Given the description of an element on the screen output the (x, y) to click on. 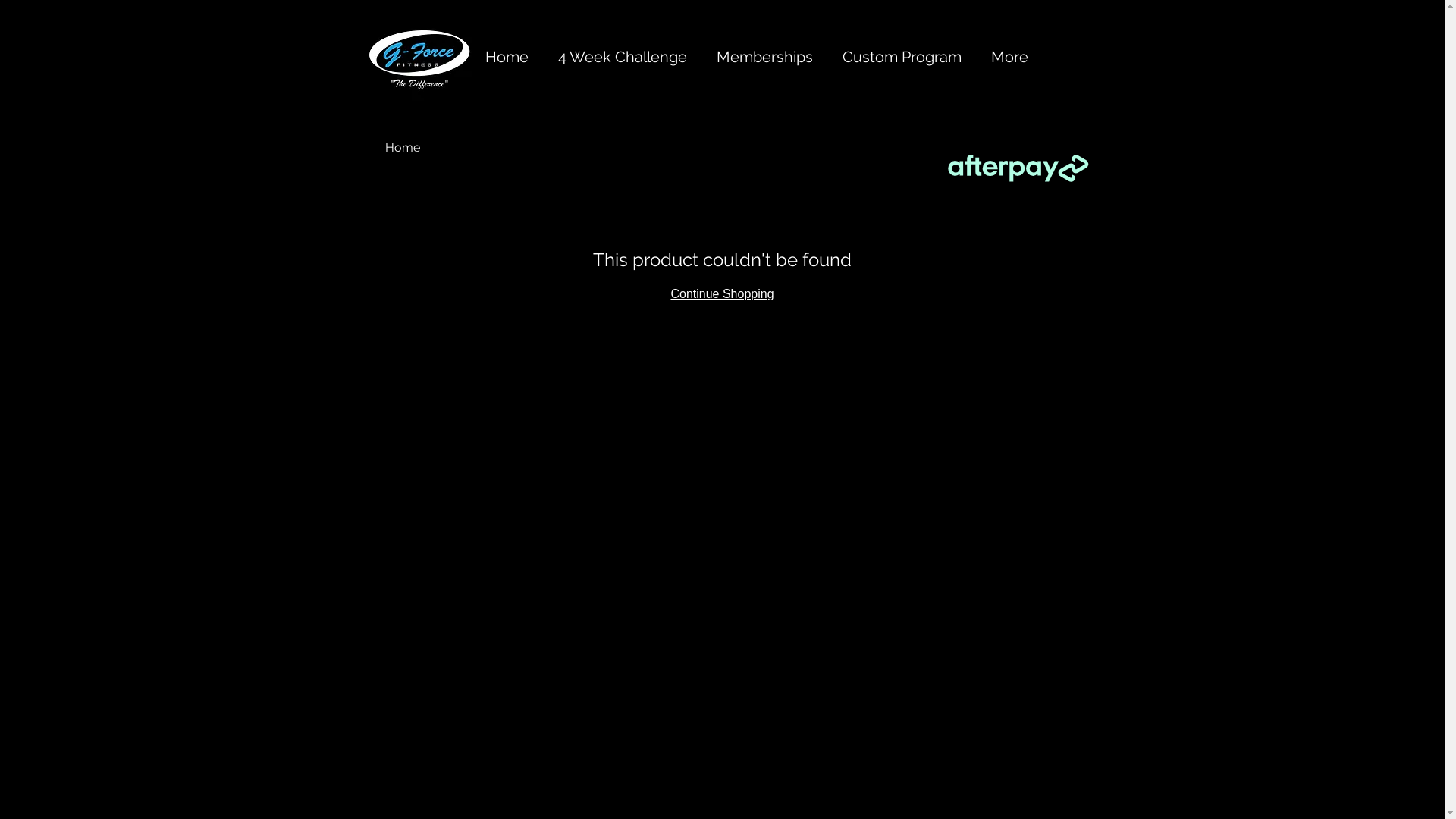
Continue Shopping Element type: text (721, 293)
Memberships Element type: text (768, 56)
Home Element type: text (509, 56)
4 Week Challenge Element type: text (625, 56)
Home Element type: text (402, 147)
Custom Program Element type: text (905, 56)
